Given the description of an element on the screen output the (x, y) to click on. 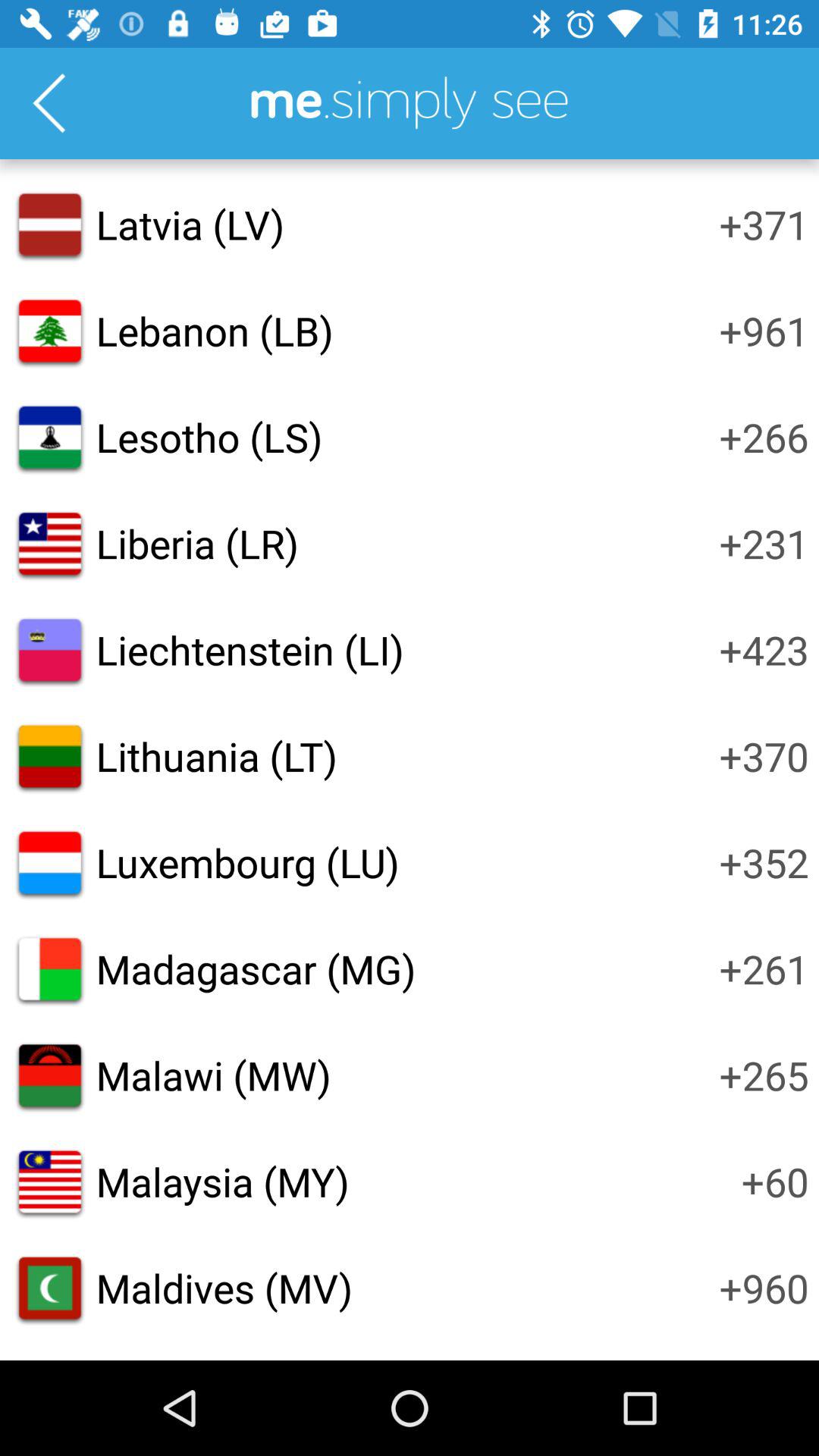
turn on +261 icon (763, 968)
